Given the description of an element on the screen output the (x, y) to click on. 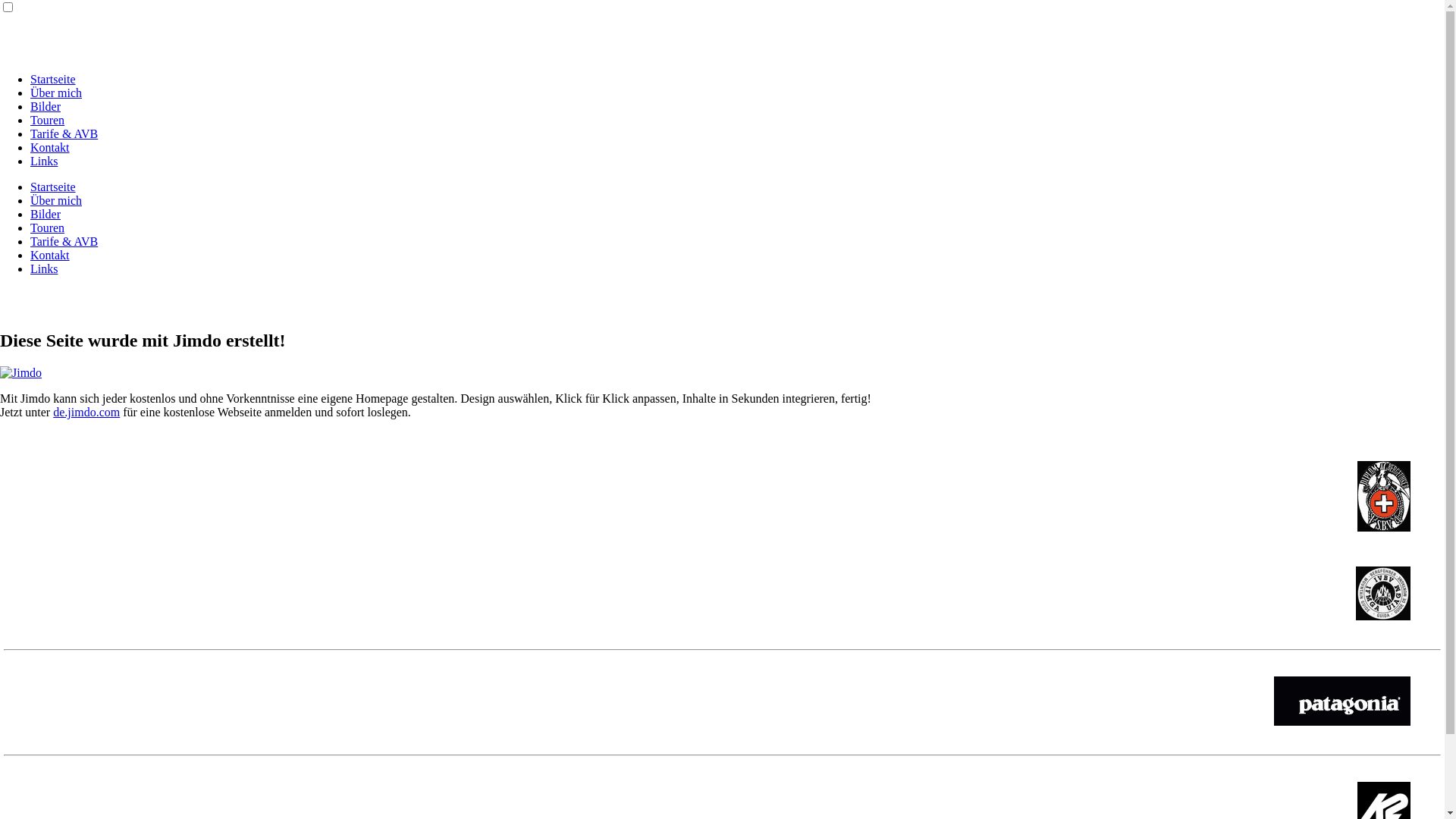
de.jimdo.com Element type: text (86, 411)
Touren Element type: text (47, 119)
Startseite Element type: text (52, 186)
Tarife & AVB Element type: text (63, 241)
Startseite Element type: text (52, 78)
Links Element type: text (43, 160)
Bilder Element type: text (45, 213)
Kontakt Element type: text (49, 254)
Kontakt Element type: text (49, 147)
Tarife & AVB Element type: text (63, 133)
Bilder Element type: text (45, 106)
Jimdo Element type: hover (20, 372)
Links Element type: text (43, 268)
Touren Element type: text (47, 227)
